Given the description of an element on the screen output the (x, y) to click on. 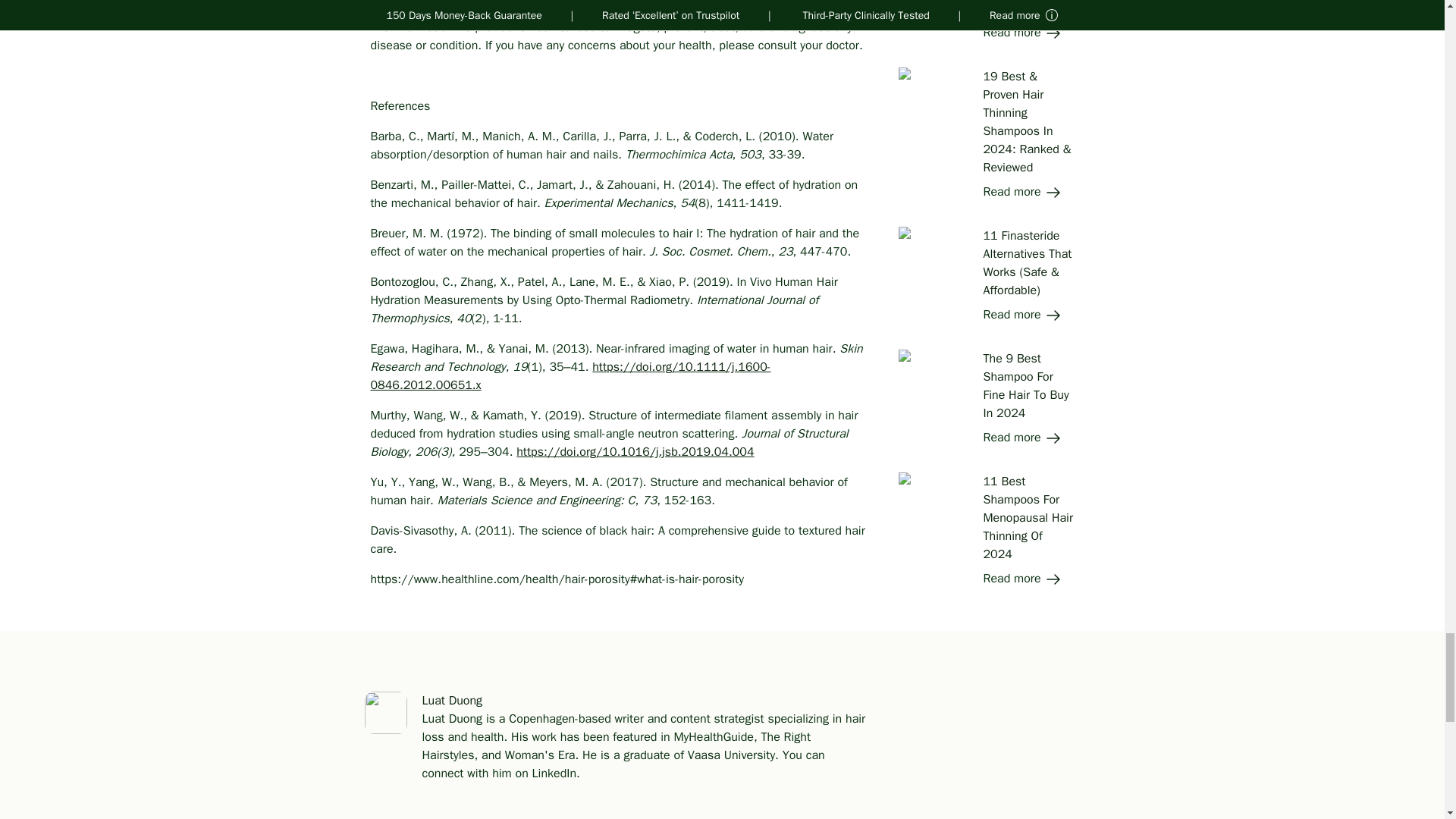
LinkedIn (554, 773)
